Given the description of an element on the screen output the (x, y) to click on. 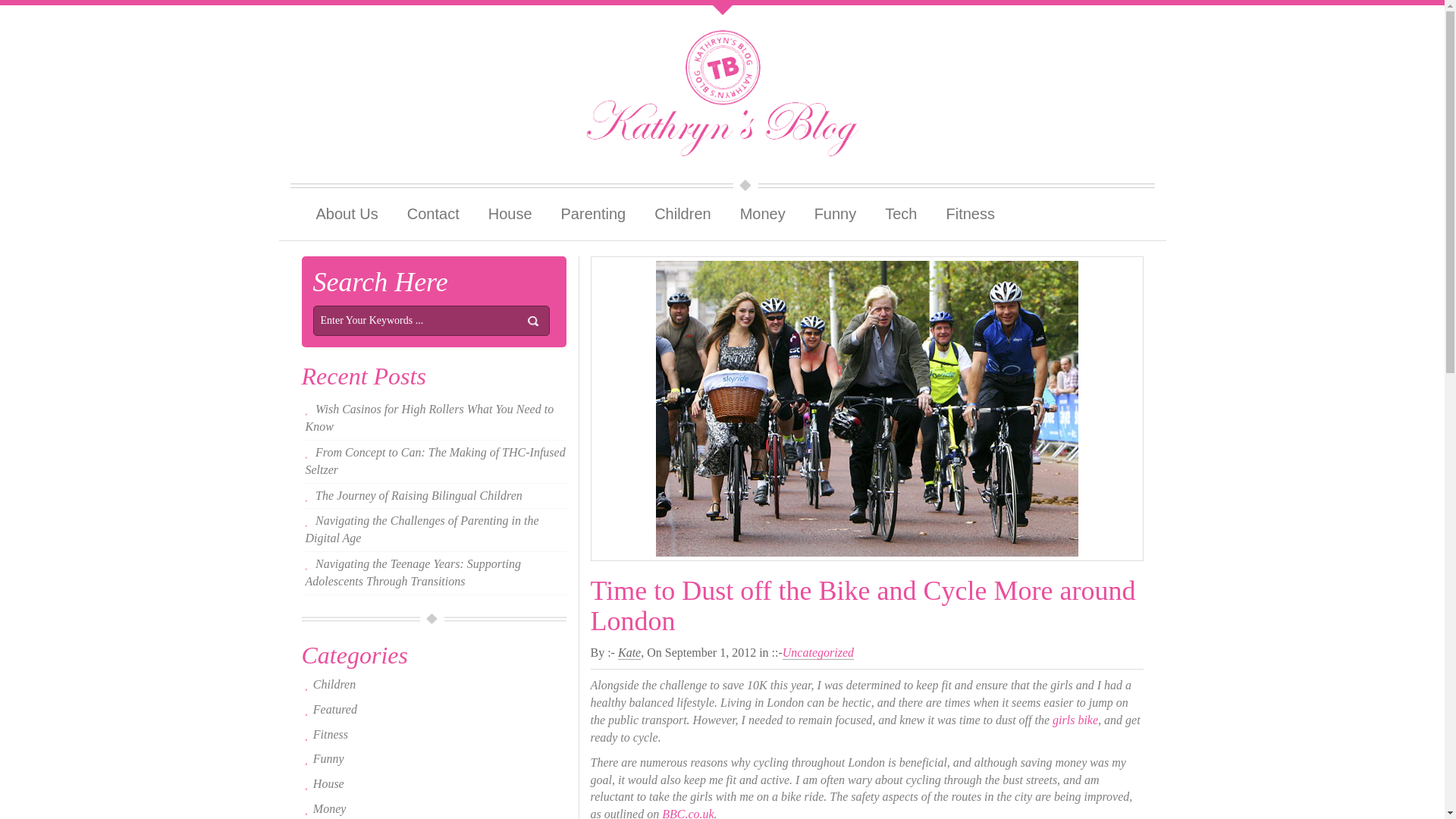
Featured (334, 708)
Money (762, 214)
Navigating the Challenges of Parenting in the Digital Age (421, 529)
Fitness (330, 734)
Wish Casinos for High Rollers What You Need to Know (428, 417)
Tech (900, 214)
Children (682, 214)
Fitness (970, 214)
girls bike (1074, 719)
House (328, 783)
Funny (328, 758)
Children (682, 214)
Parenting (593, 214)
Money (329, 808)
